Given the description of an element on the screen output the (x, y) to click on. 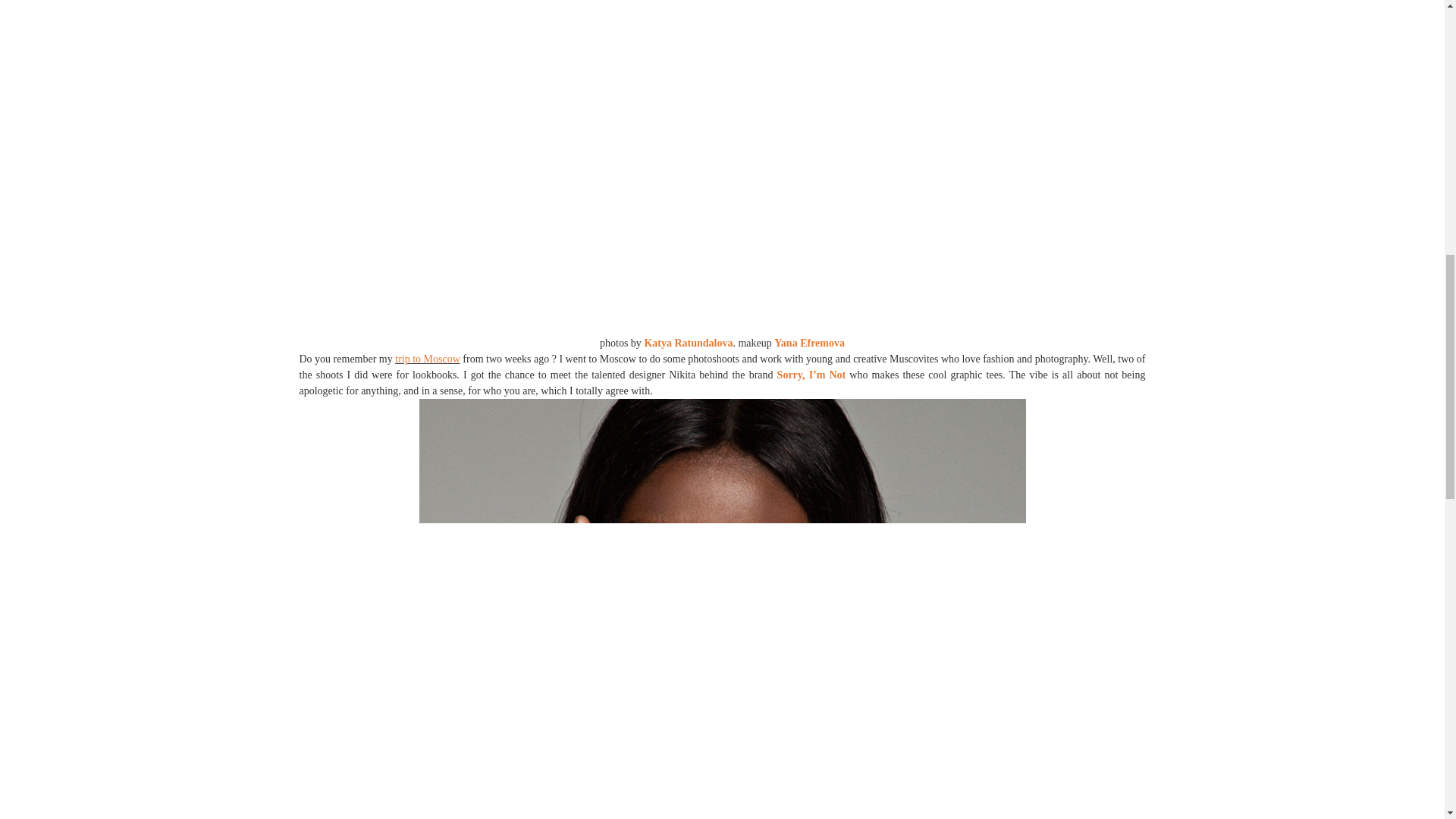
Yana Efremova (809, 342)
trip to Moscow (427, 358)
Katya Ratundalova (687, 342)
